Given the description of an element on the screen output the (x, y) to click on. 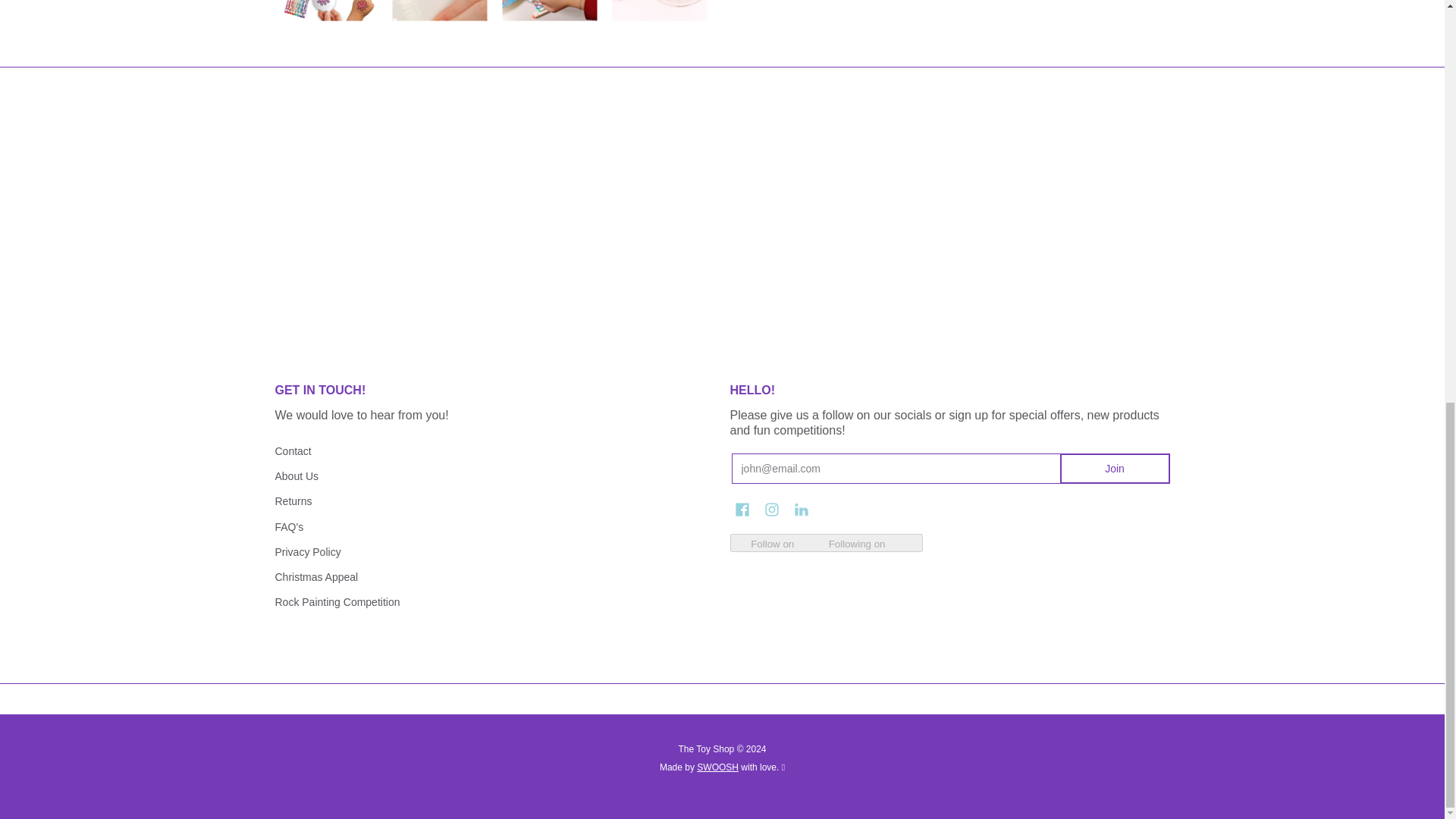
Privacy Policy (494, 551)
About Us (494, 475)
Contact (494, 450)
FAQ's (494, 526)
Christmas Appeal (494, 577)
Returns (494, 501)
